Given the description of an element on the screen output the (x, y) to click on. 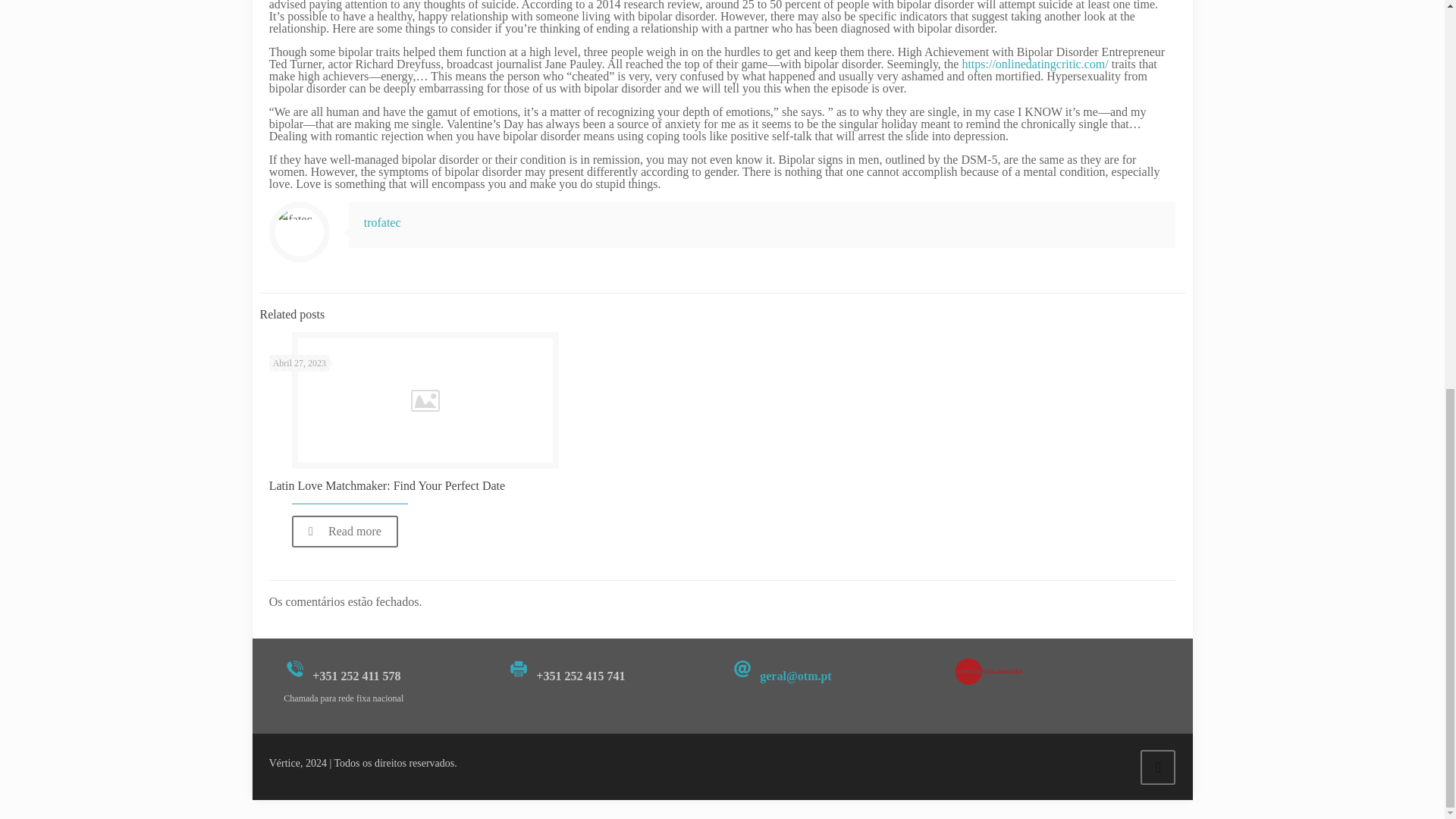
Read more (344, 531)
Latin Love Matchmaker: Find Your Perfect Date (387, 485)
trofatec (382, 222)
